Given the description of an element on the screen output the (x, y) to click on. 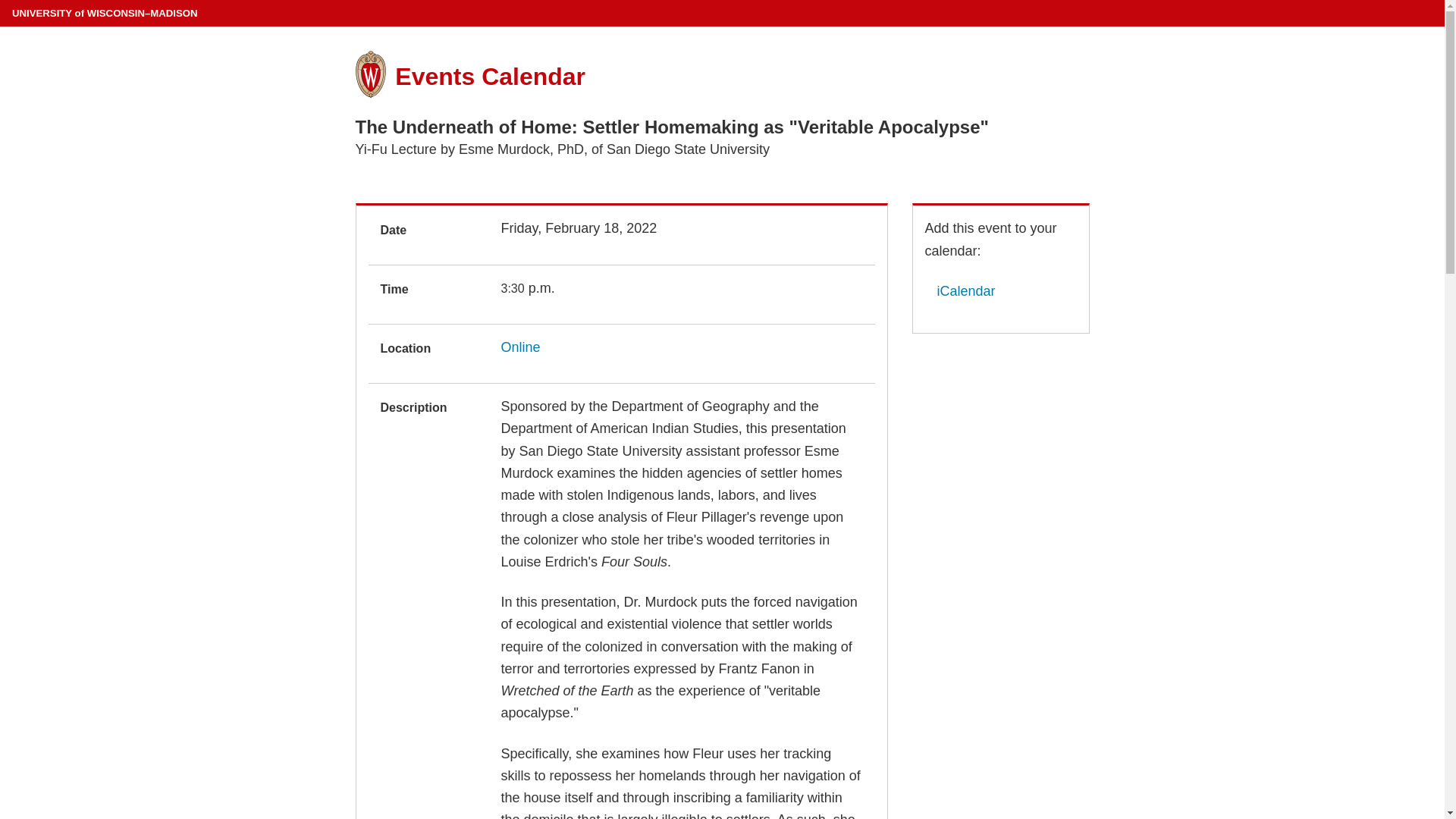
iCalendar (959, 290)
Online (520, 346)
Skip to main content (3, 3)
Events Calendar (489, 76)
